Given the description of an element on the screen output the (x, y) to click on. 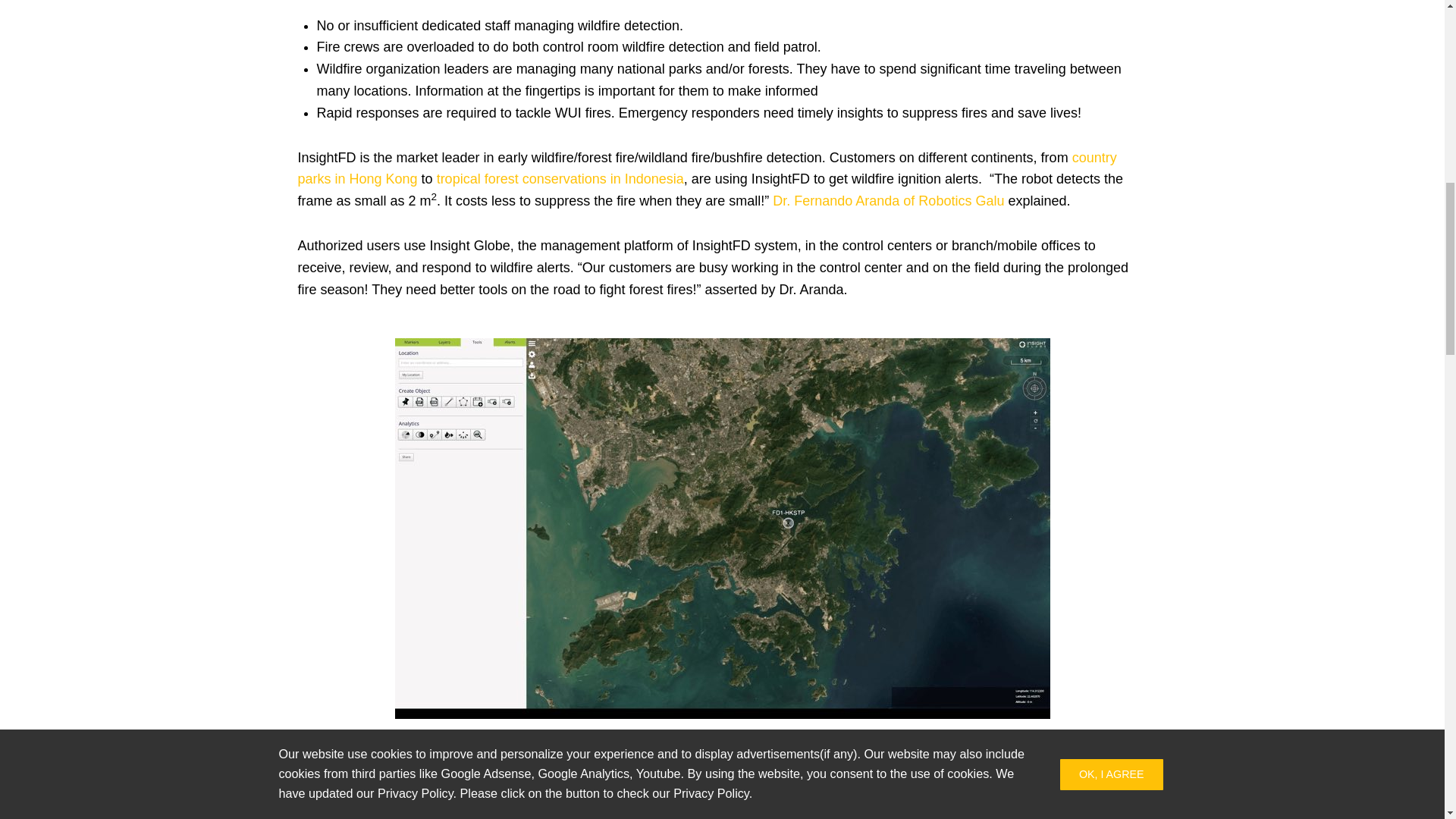
country parks in Hong Kong (706, 168)
tropical forest conservations in Indonesia (560, 178)
